Given the description of an element on the screen output the (x, y) to click on. 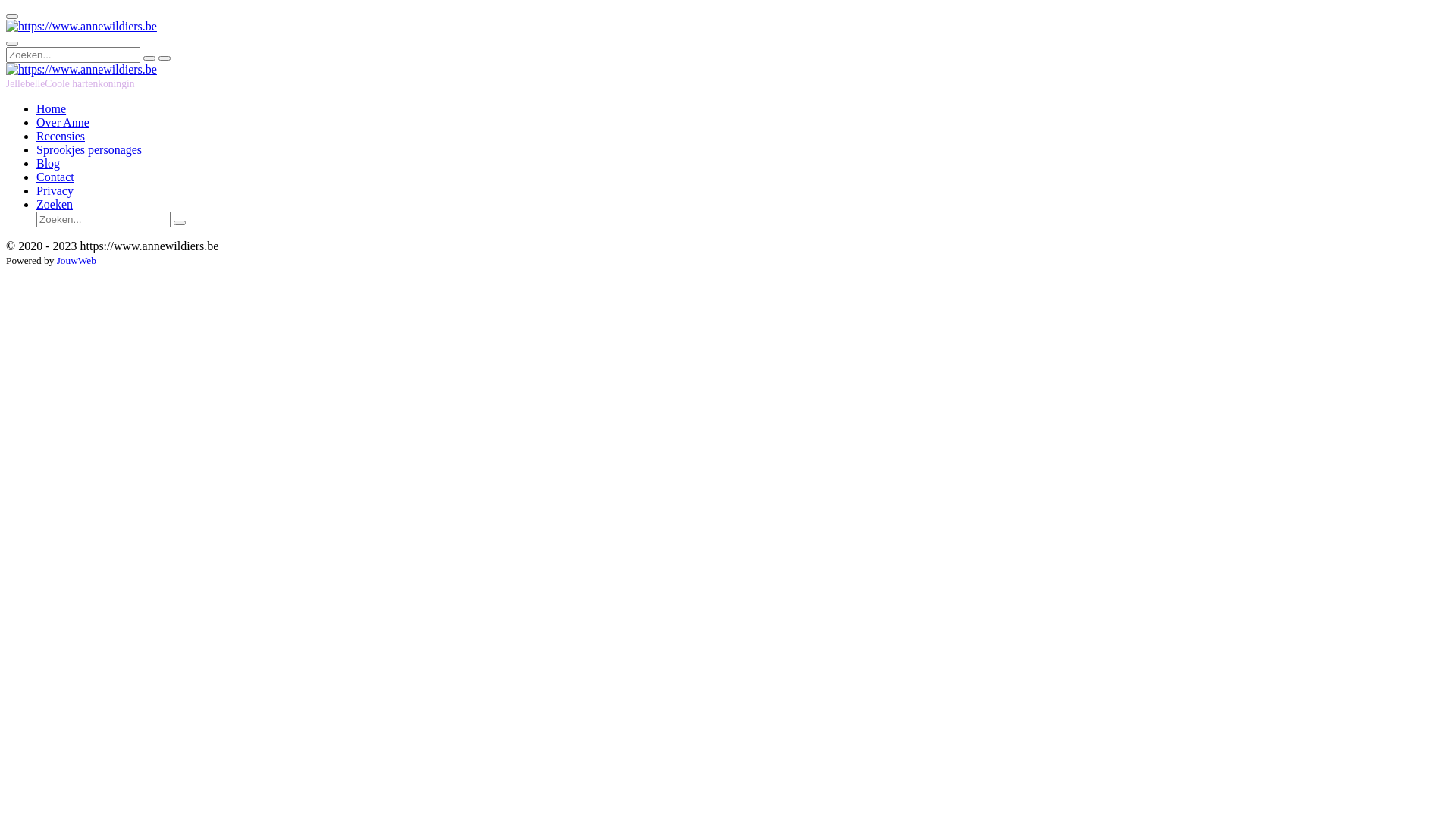
Recensies Element type: text (60, 135)
https://www.annewildiers.be Element type: hover (81, 69)
Blog Element type: text (47, 162)
Sprookjes personages Element type: text (88, 149)
Privacy Element type: text (54, 190)
Home Element type: text (50, 108)
Contact Element type: text (55, 176)
JouwWeb Element type: text (76, 260)
JellebelleCoole hartenkoningin Element type: text (70, 82)
https://www.annewildiers.be Element type: hover (81, 26)
Zoeken Element type: text (54, 203)
Over Anne Element type: text (62, 122)
